Given the description of an element on the screen output the (x, y) to click on. 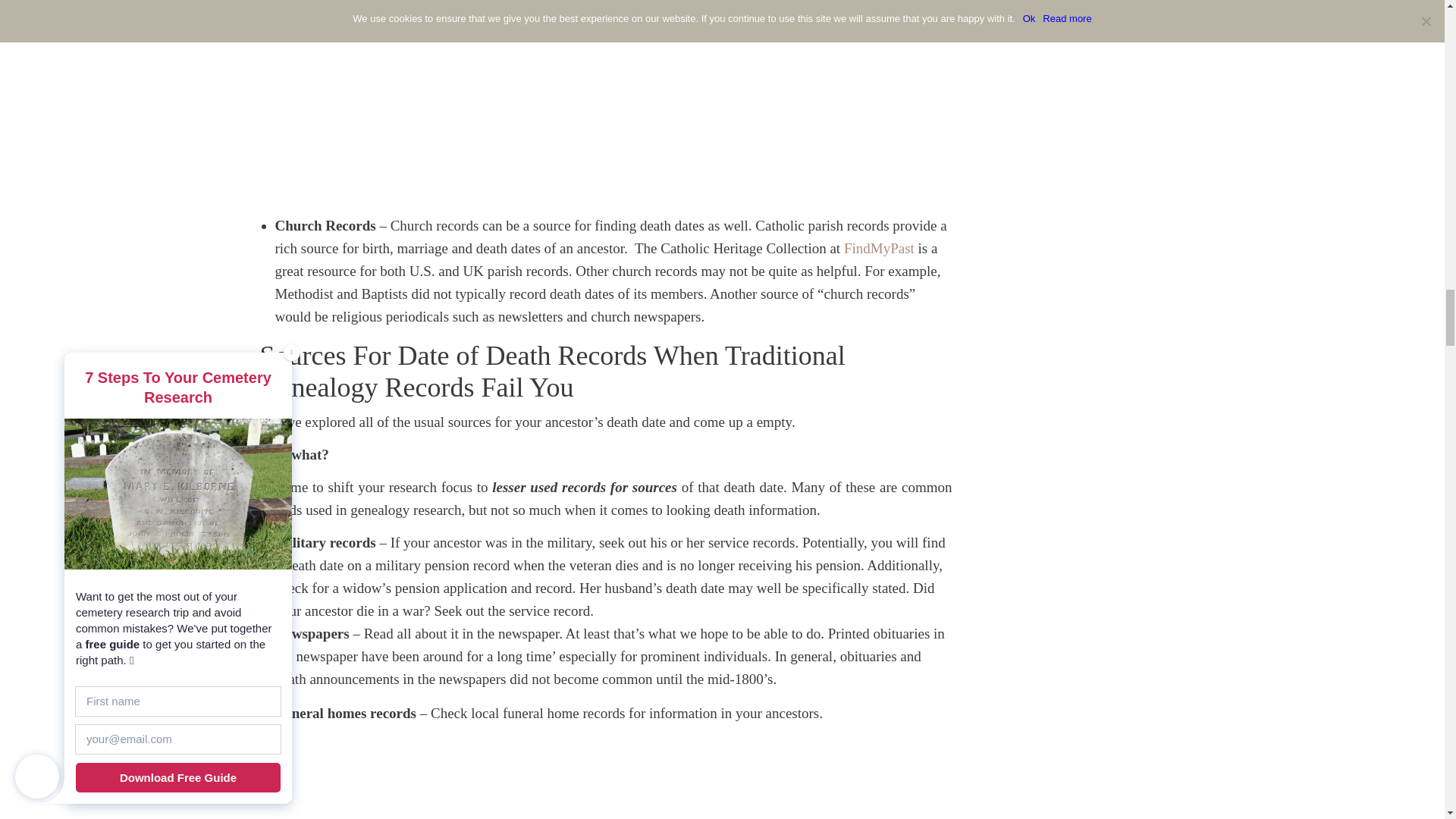
FindMyPast (879, 248)
